Given the description of an element on the screen output the (x, y) to click on. 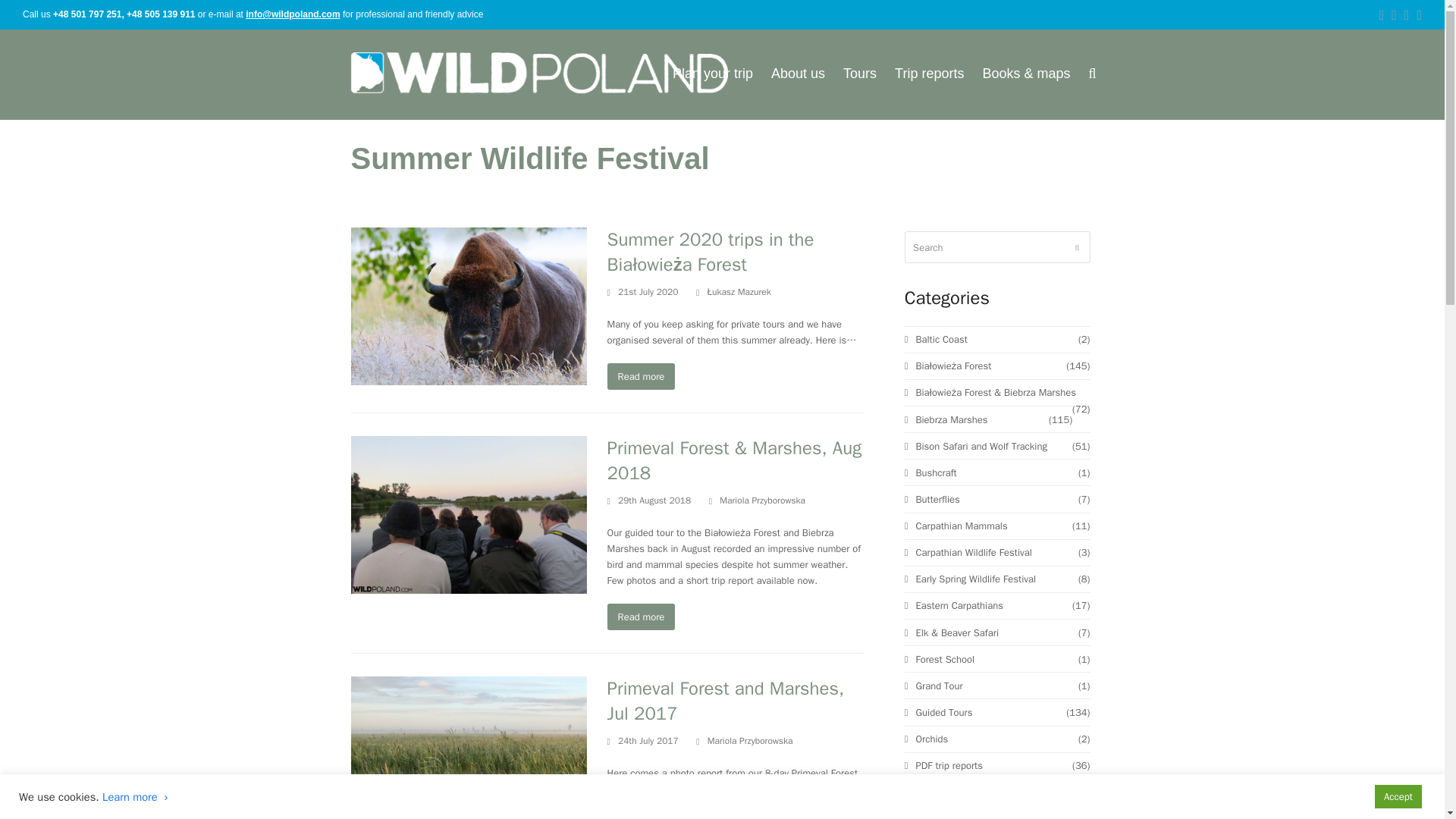
Mariola Przyborowska (750, 740)
Posts by Mariola Przyborowska (762, 500)
Read more (641, 376)
About us (797, 75)
Read more (641, 616)
Mariola Przyborowska (762, 500)
Tours (859, 75)
Plan your trip (712, 75)
Primeval Forest and Marshes, Jul 2017 (468, 753)
Primeval Forest and Marshes, Jul 2017 (725, 700)
